Given the description of an element on the screen output the (x, y) to click on. 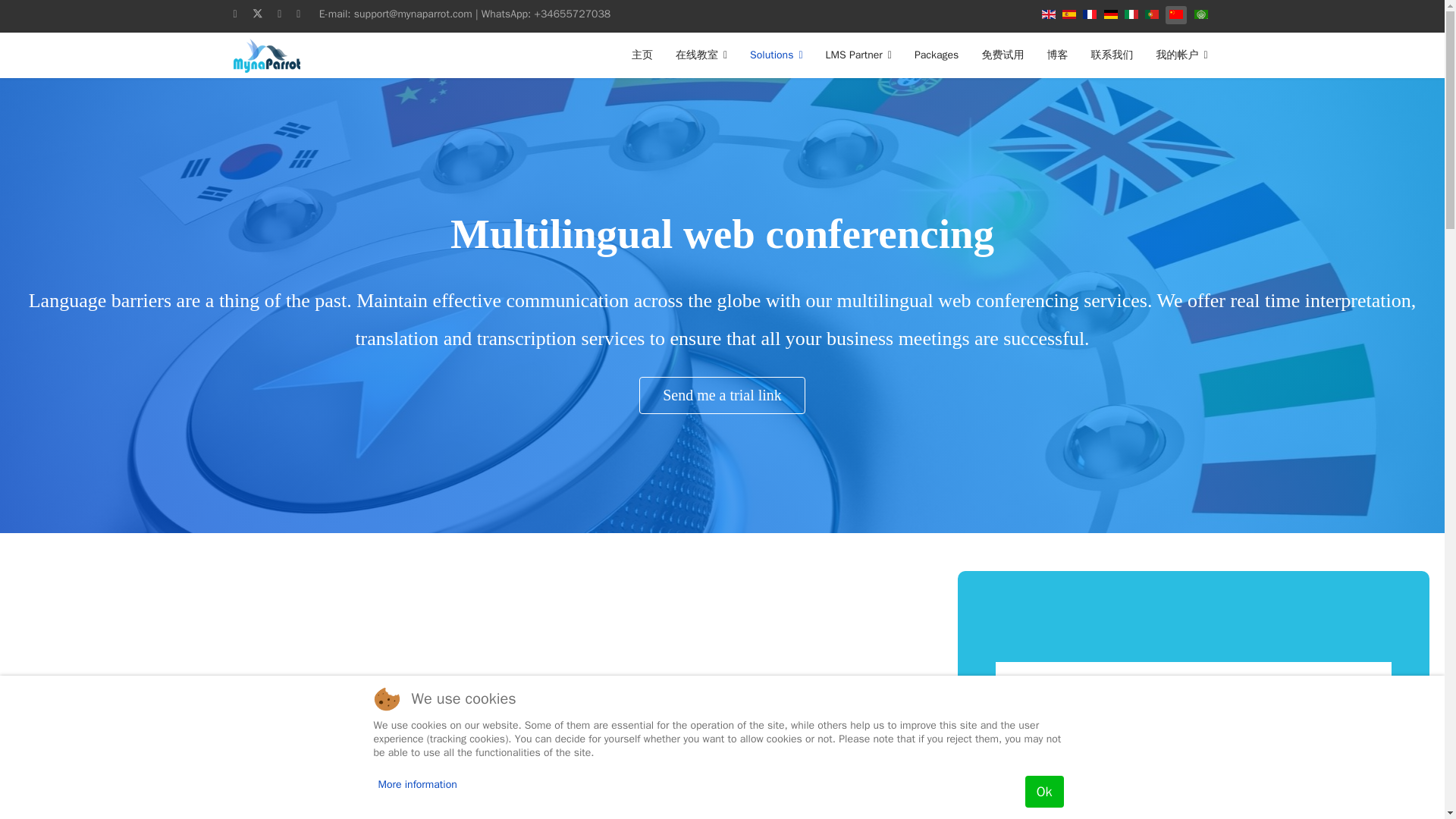
Packages (935, 54)
Solutions (775, 54)
Send me a trial link (722, 395)
